Given the description of an element on the screen output the (x, y) to click on. 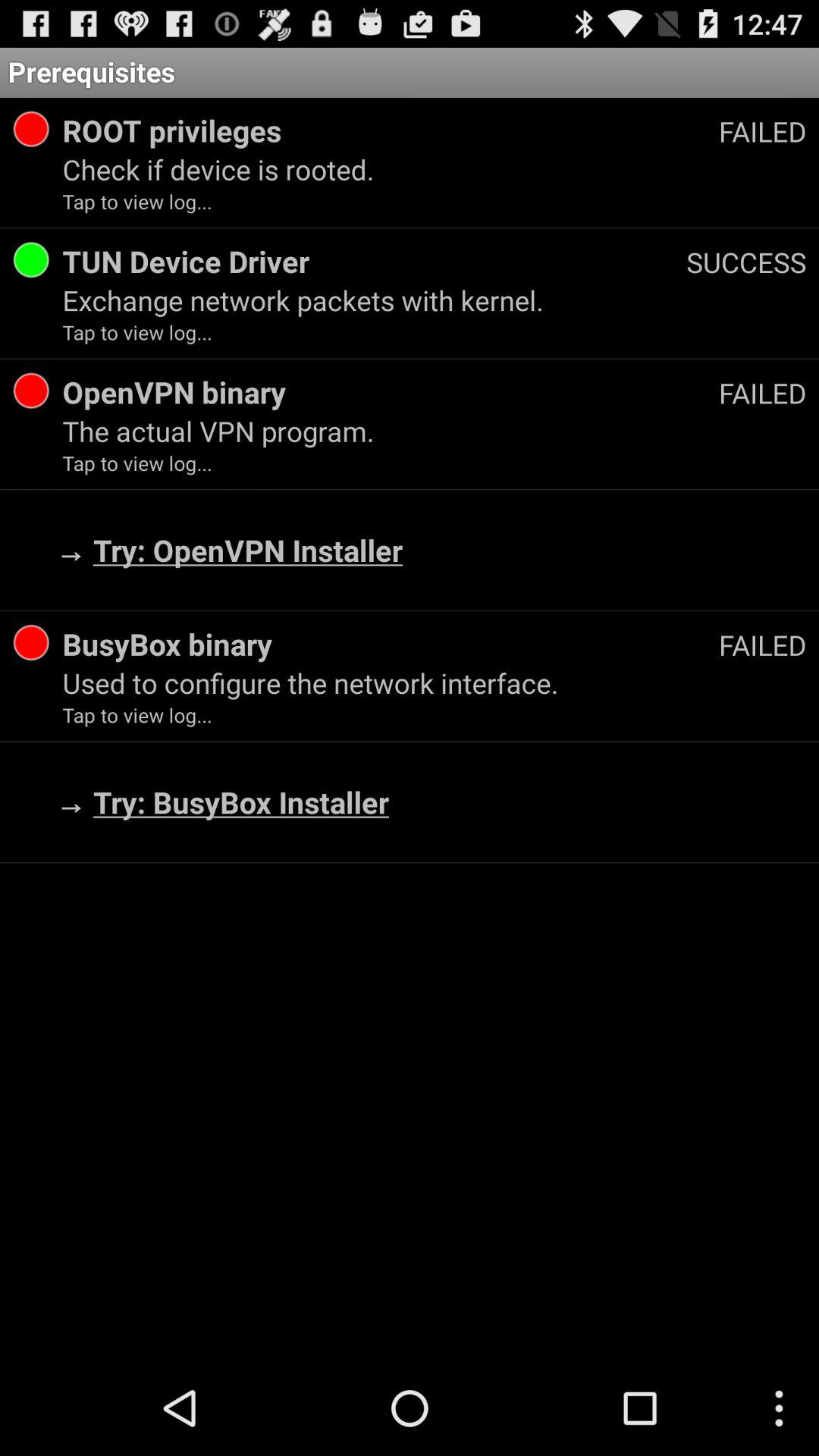
press item below check if device app (746, 261)
